Given the description of an element on the screen output the (x, y) to click on. 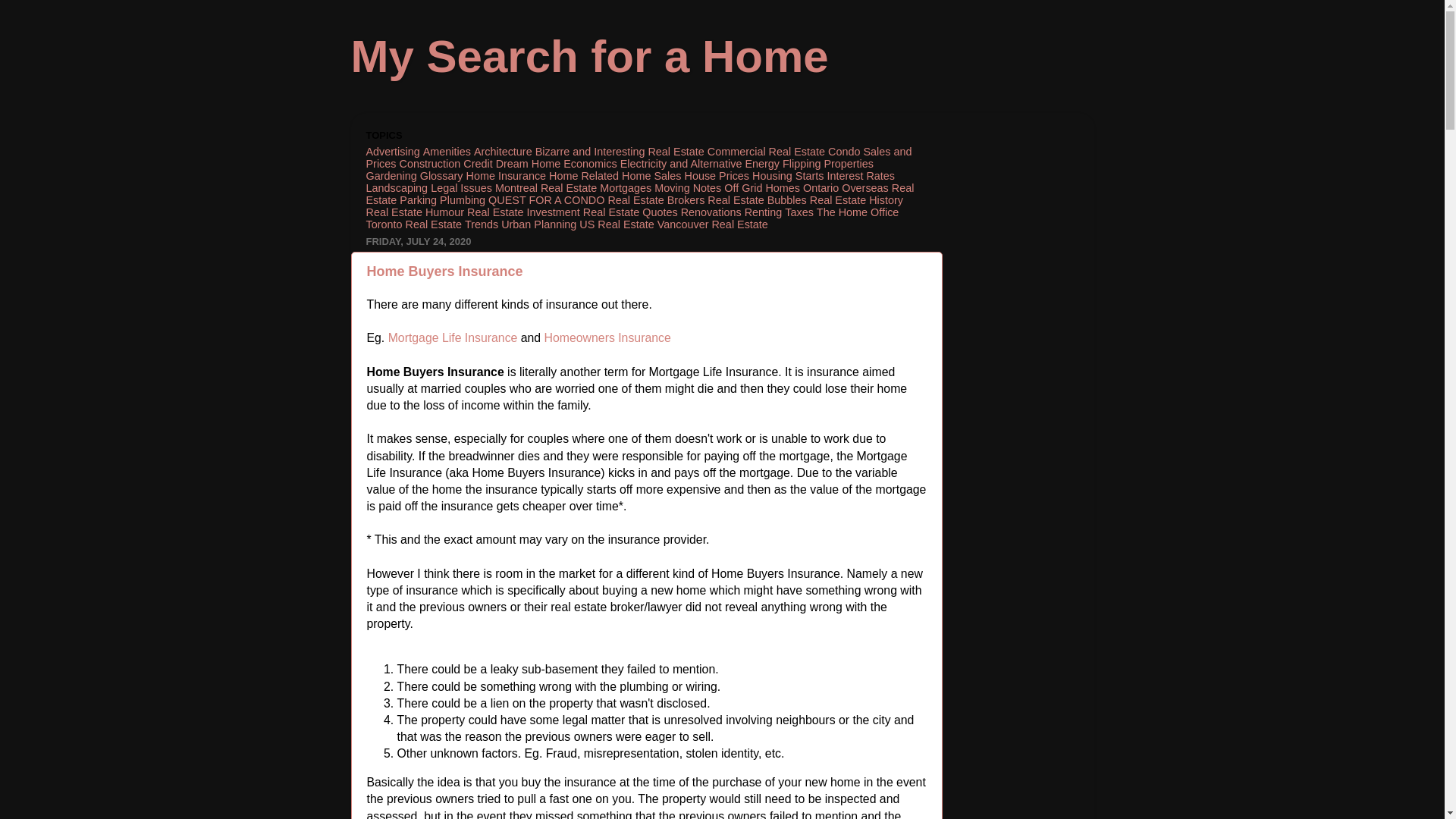
Flipping Properties (828, 163)
Amenities (446, 151)
Credit (477, 163)
Interest Rates (861, 175)
Overseas Real Estate (639, 193)
House Prices (716, 175)
Advertising (392, 151)
Home Insurance (505, 175)
Home Sales (651, 175)
Montreal Real Estate (545, 187)
